Given the description of an element on the screen output the (x, y) to click on. 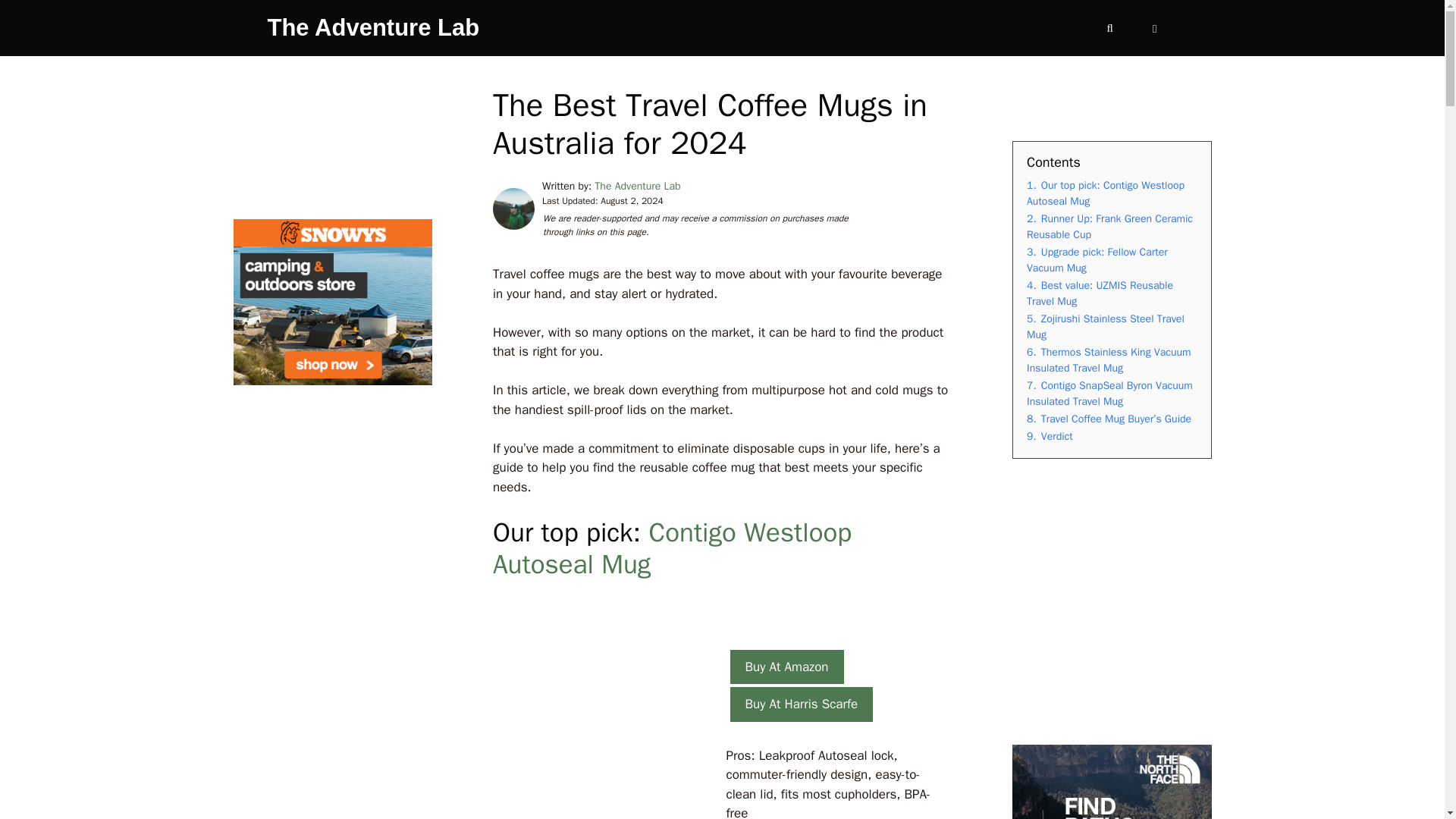
Contigo Westloop Autoseal Mug (672, 547)
Buy At Amazon (786, 667)
The Adventure Lab (372, 28)
1. Our top pick: Contigo Westloop Autoseal Mug (1105, 193)
Buy At Harris Scarfe (800, 704)
The Adventure Lab (636, 185)
